Given the description of an element on the screen output the (x, y) to click on. 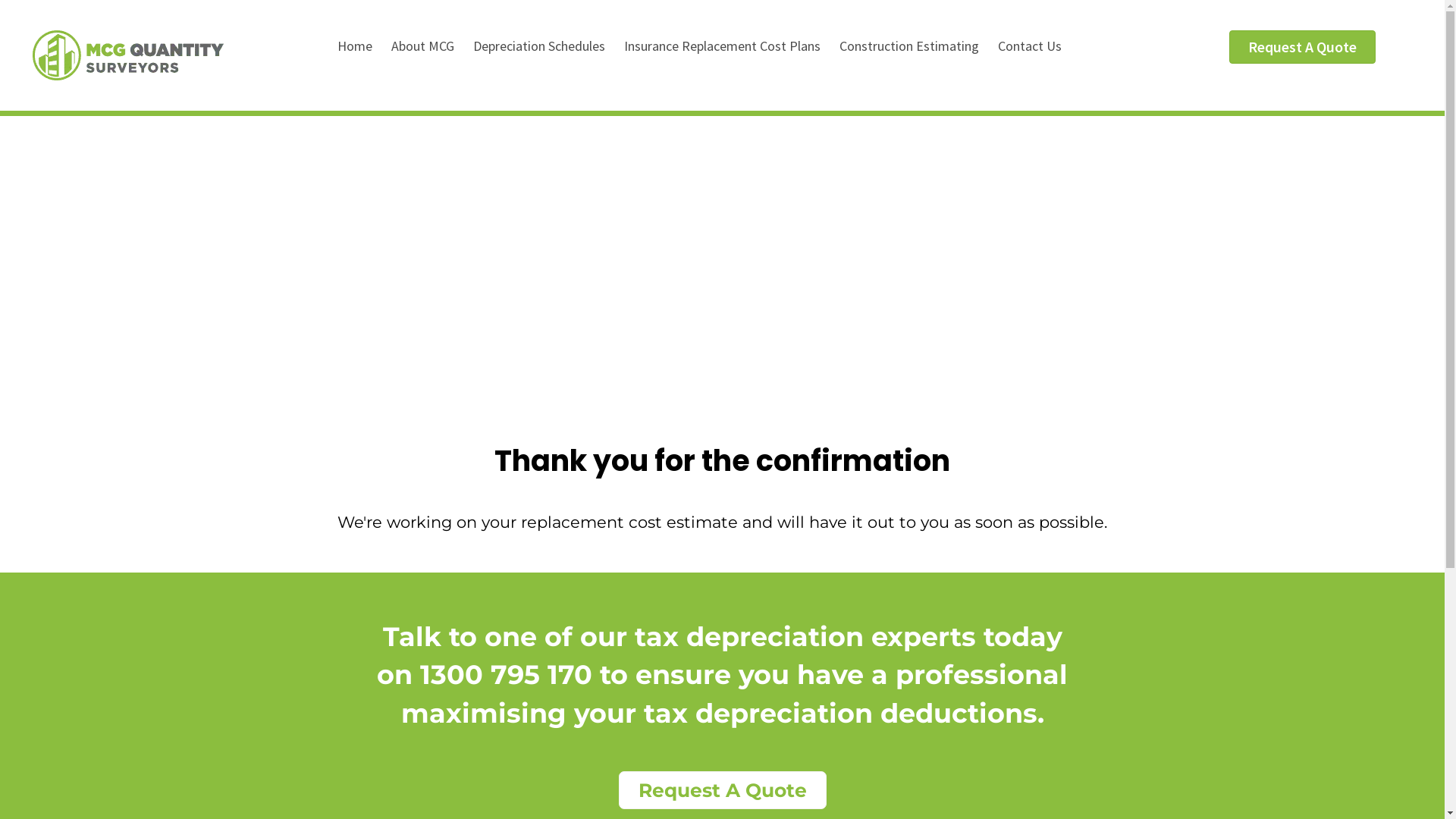
mcg_logo Element type: hover (127, 62)
Depreciation Schedules Element type: text (548, 44)
Home Element type: text (363, 44)
Insurance Replacement Cost Plans Element type: text (731, 44)
Request A Quote Element type: text (1302, 46)
Contact Us Element type: text (1038, 44)
Request A Quote Element type: text (722, 790)
Construction Estimating Element type: text (918, 44)
About MCG Element type: text (431, 44)
